Given the description of an element on the screen output the (x, y) to click on. 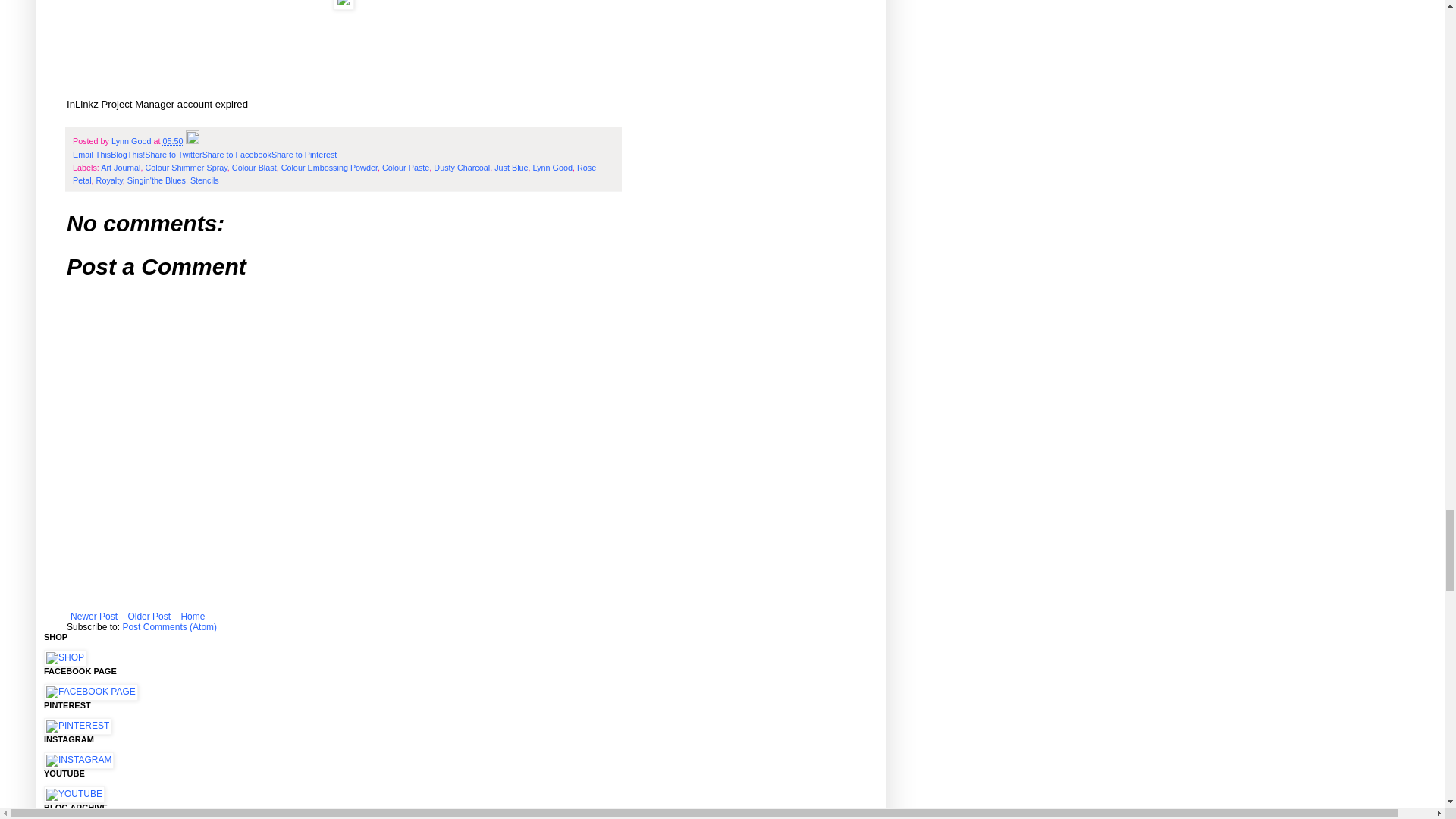
Share to Pinterest (303, 153)
Singin'the Blues (157, 180)
Lynn Good (552, 166)
author profile (132, 140)
Lynn Good (132, 140)
Colour Blast (253, 166)
Colour Shimmer Spray (185, 166)
05:50 (172, 140)
Dusty Charcoal (461, 166)
BlogThis! (127, 153)
Email This (91, 153)
Royalty (109, 180)
Share to Facebook (236, 153)
Email This (91, 153)
Share to Twitter (173, 153)
